Given the description of an element on the screen output the (x, y) to click on. 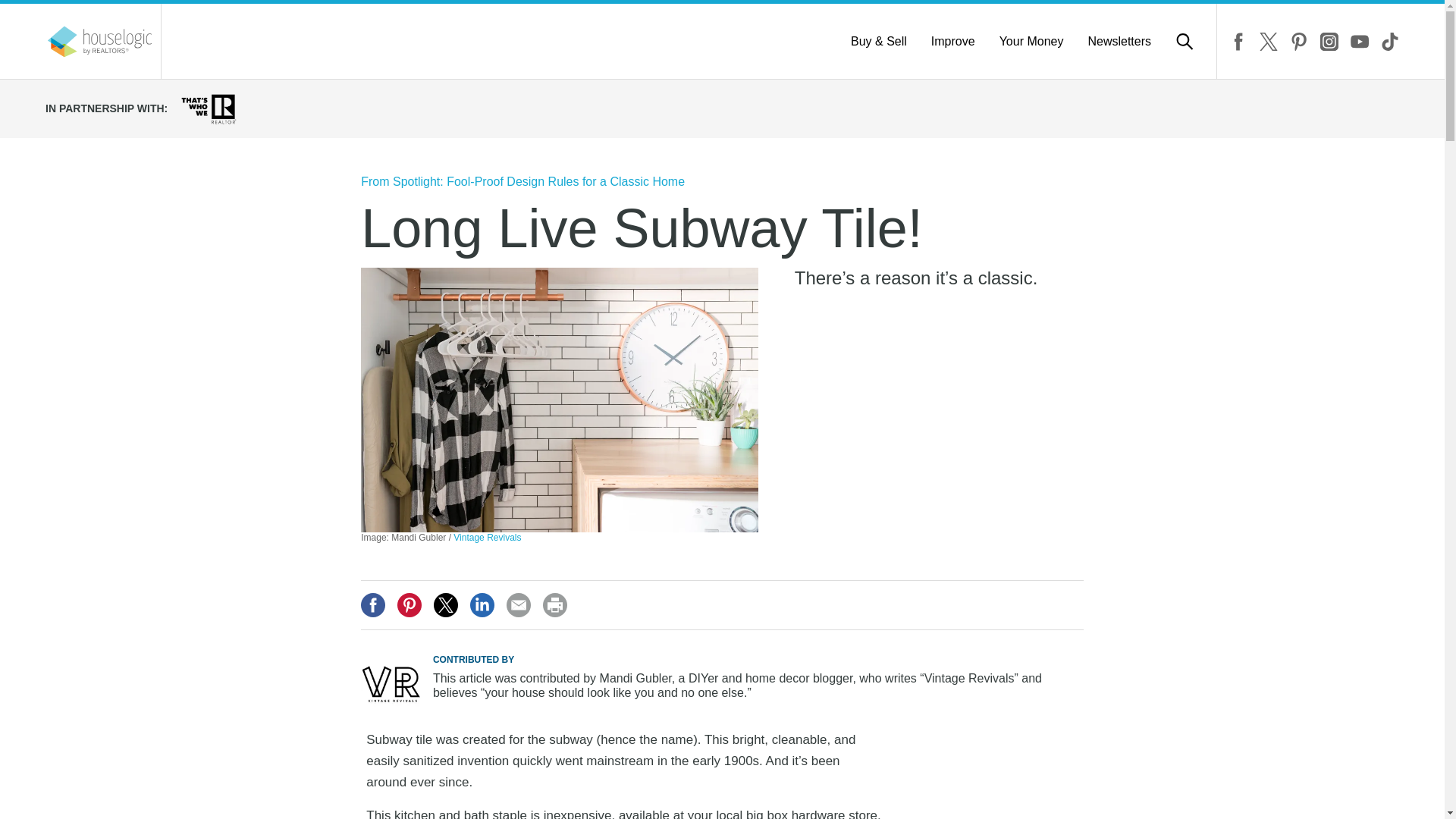
Share on Facebook (373, 604)
Share on LinkedIn (482, 604)
Share on Pinterest (409, 604)
Your Money (1031, 41)
Improve (953, 41)
Share via Email (518, 604)
Print Article (555, 604)
Share on Twitter (445, 604)
